Given the description of an element on the screen output the (x, y) to click on. 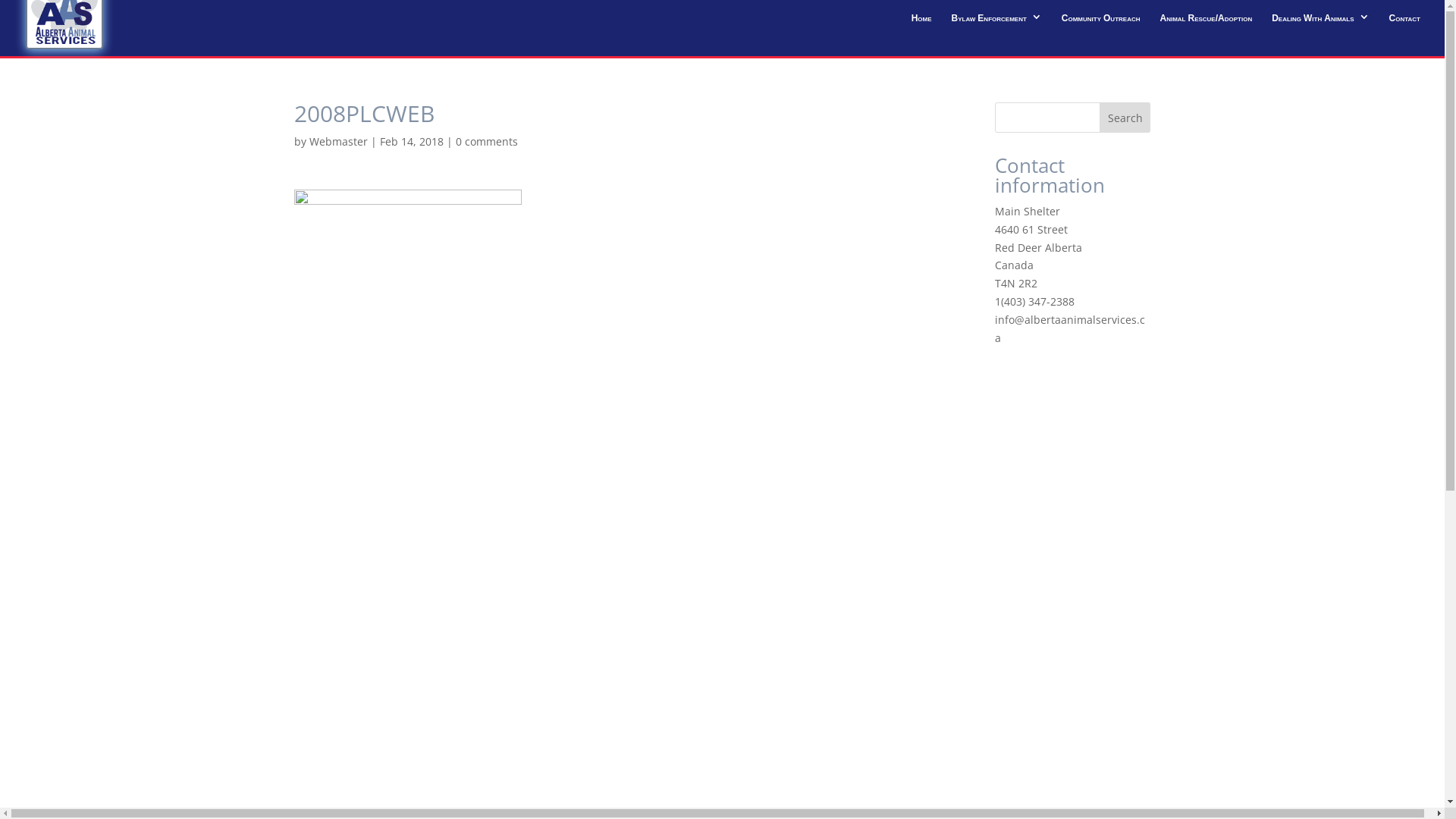
Contact Element type: text (1404, 22)
Webmaster Element type: text (338, 141)
0 comments Element type: text (486, 141)
1(403) 347-2388 Element type: text (1034, 301)
Home Element type: text (921, 22)
Bylaw Enforcement Element type: text (996, 22)
Animal Rescue/Adoption Element type: text (1205, 22)
Dealing With Animals Element type: text (1319, 22)
info@albertaanimalservices.ca Element type: text (1069, 328)
Community Outreach Element type: text (1100, 22)
Search Element type: text (1125, 117)
